Given the description of an element on the screen output the (x, y) to click on. 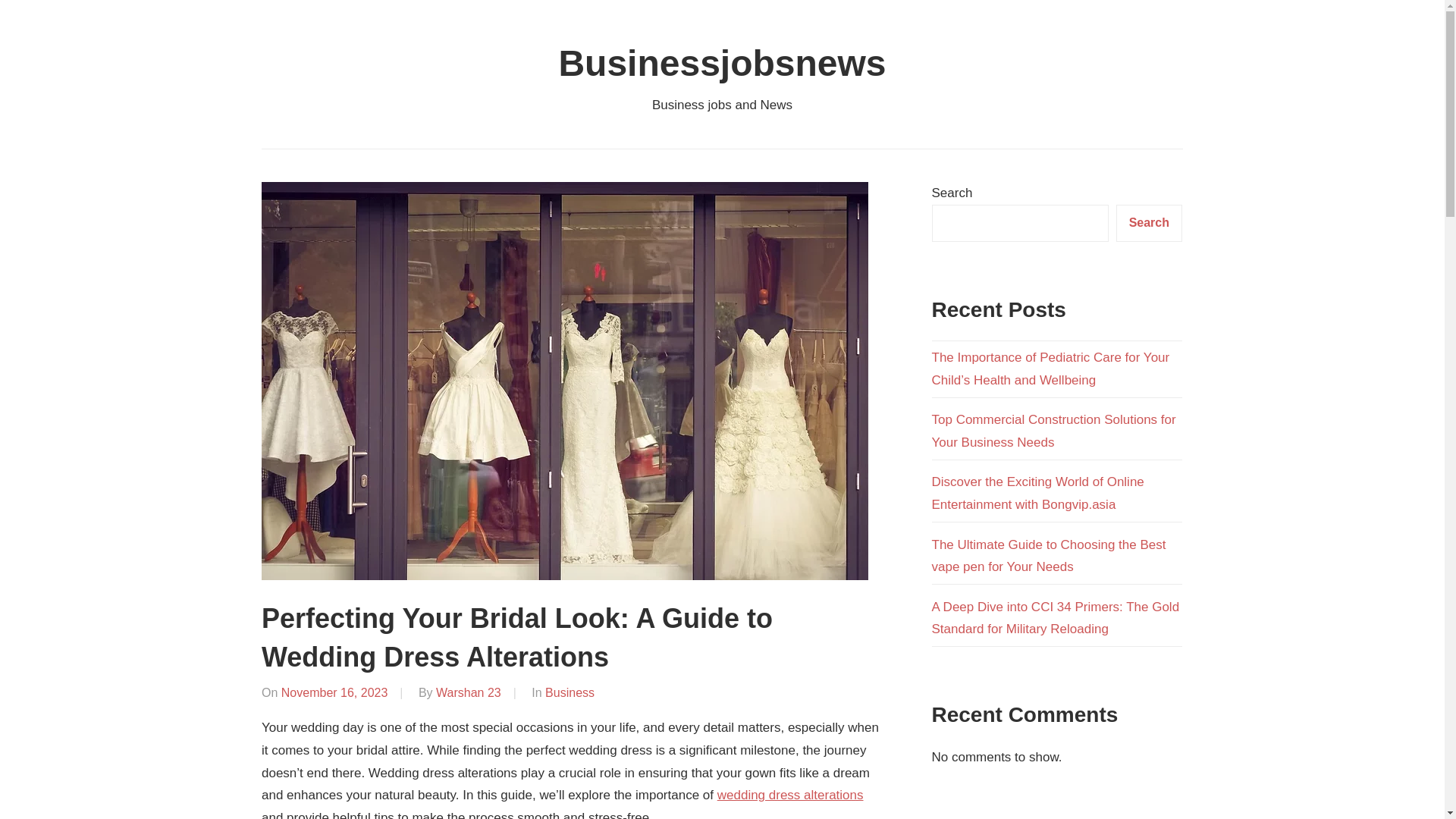
Warshan 23 (467, 692)
Search (1149, 222)
Business (569, 692)
Businessjobsnews (721, 63)
5:54 am (334, 692)
wedding dress alterations (790, 794)
